Given the description of an element on the screen output the (x, y) to click on. 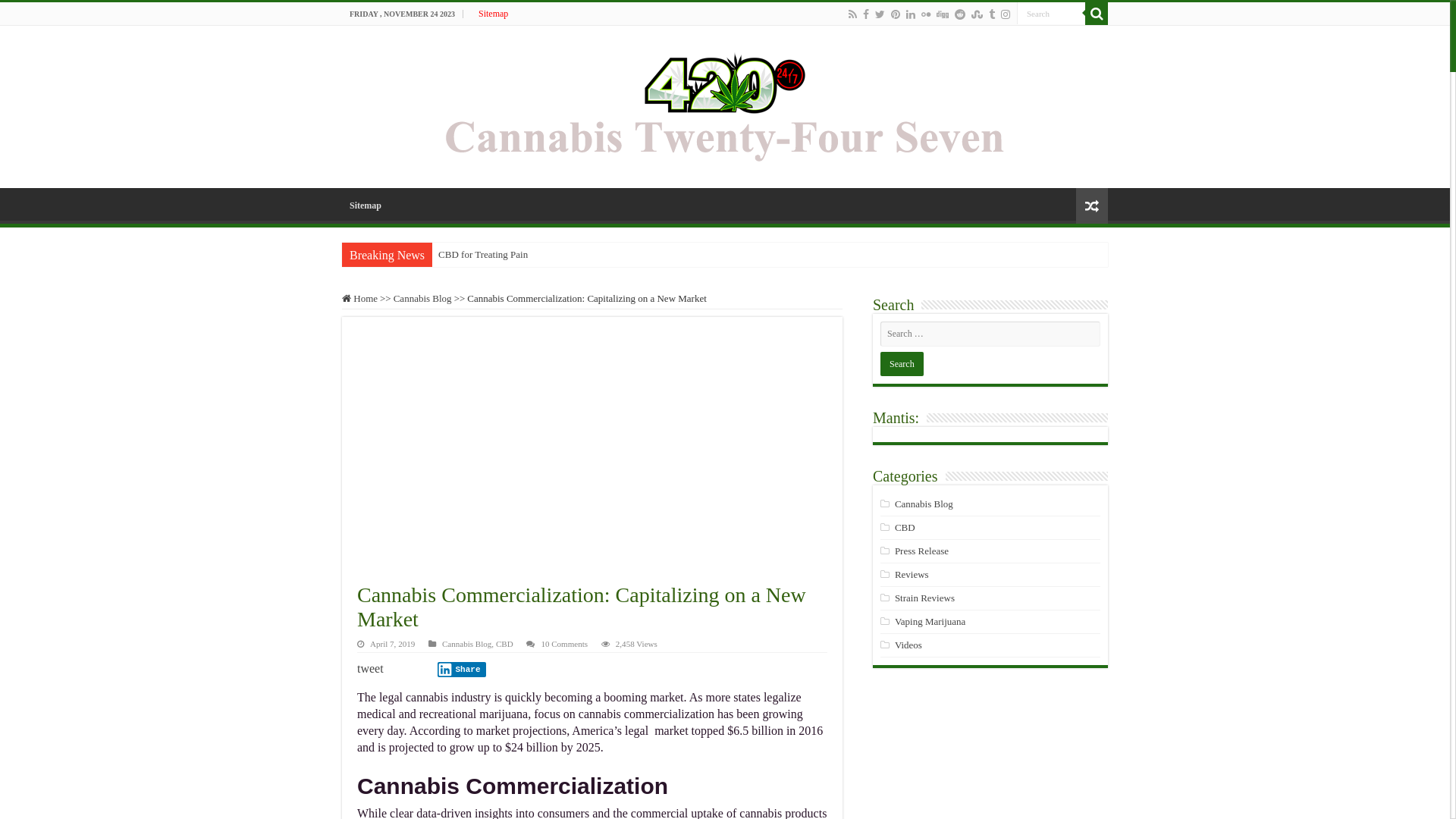
Home Element type: text (359, 298)
Search Element type: text (1096, 13)
Videos Element type: text (908, 644)
tweet Element type: text (370, 668)
Pinterest Element type: hover (895, 14)
10 Comments Element type: text (563, 643)
Cannabis Blog Element type: text (923, 503)
Share Element type: text (461, 669)
Reddit Element type: hover (959, 14)
Vaping Marijuana Element type: text (930, 621)
Press Release Element type: text (921, 550)
LinkedIn Element type: hover (910, 14)
Random Article Element type: hover (1091, 205)
Cannabis Twenty-Four Seven Element type: hover (724, 103)
Cannabis Blog Element type: text (422, 298)
Rss Element type: hover (852, 14)
Tumblr Element type: hover (991, 14)
Strain Reviews Element type: text (924, 597)
Search Element type: text (901, 363)
Cannabis Blog Element type: text (466, 643)
CBD for Treating Pain Element type: text (576, 254)
Flickr Element type: hover (925, 14)
Search Element type: hover (1050, 13)
Sitemap Element type: text (365, 203)
CBD Element type: text (904, 527)
CBD Element type: text (504, 643)
Sitemap Element type: text (492, 13)
Twitter Element type: hover (879, 14)
Facebook Element type: hover (865, 14)
Reviews Element type: text (911, 574)
instagram Element type: hover (1005, 14)
Digg Element type: hover (942, 14)
StumbleUpon Element type: hover (976, 14)
